Given the description of an element on the screen output the (x, y) to click on. 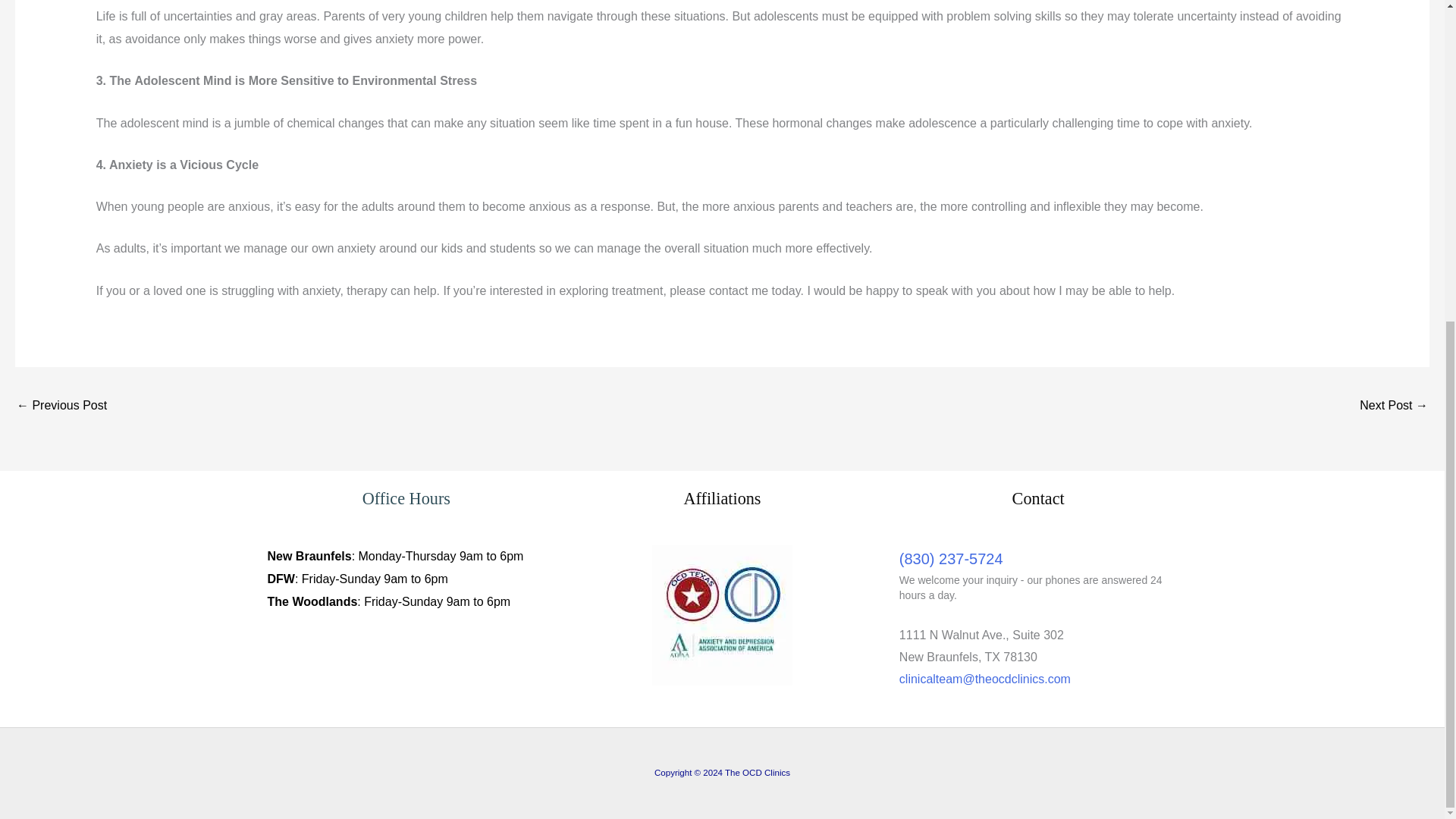
4 Reasons We Judge Others and How to Break the Habit (1393, 406)
5 Ways to Recognize Addiction Before it Takes Over (61, 406)
